Given the description of an element on the screen output the (x, y) to click on. 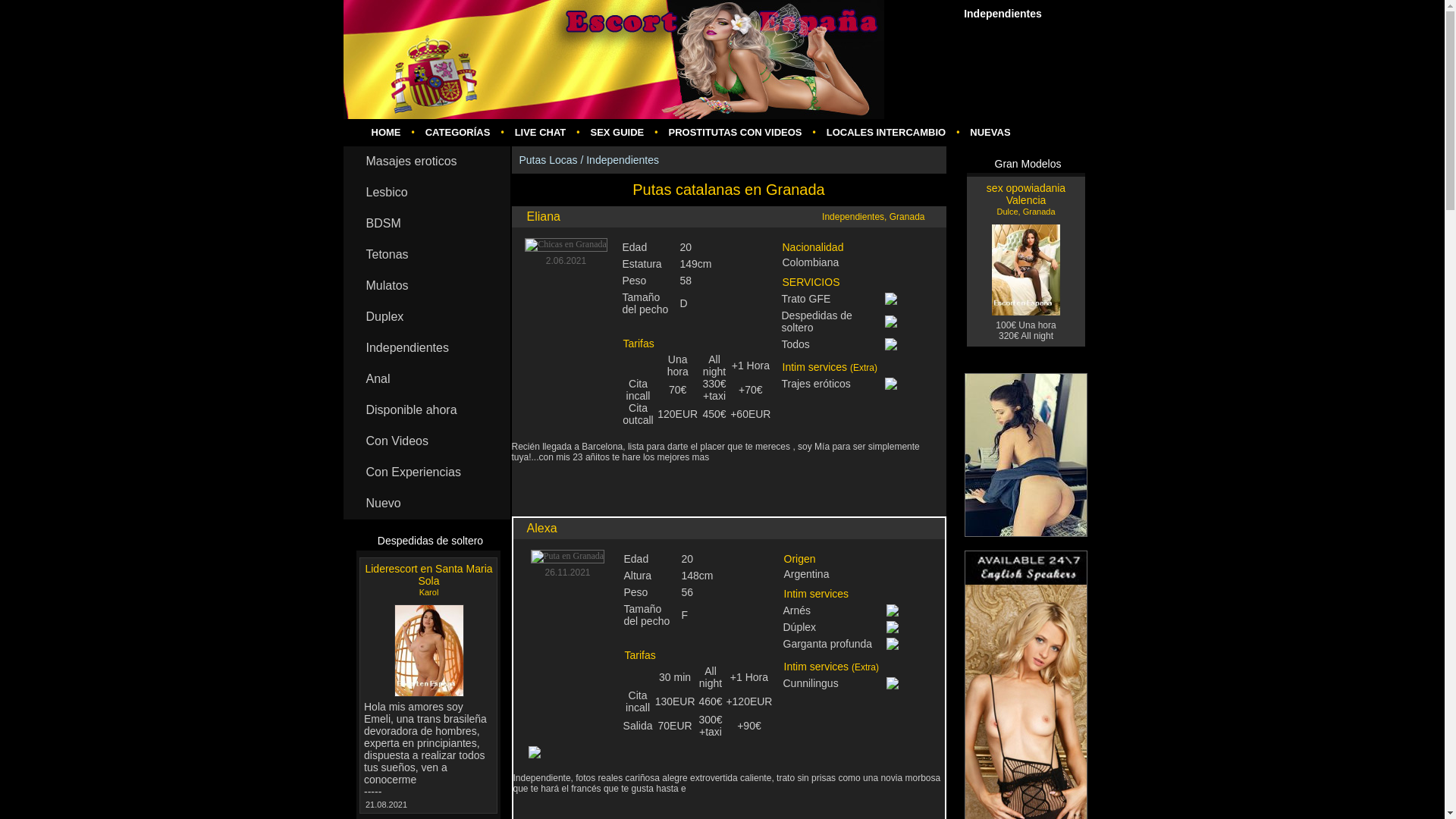
PROSTITUTAS CON VIDEOS (735, 131)
Nuevo (425, 503)
HOME (386, 131)
Tetonas (425, 255)
Anal (425, 378)
Duplex (425, 317)
Mulatos (425, 286)
Independientes (425, 347)
Con Experiencias (425, 472)
Lesbico (425, 192)
SEX GUIDE (616, 131)
BDSM (425, 223)
Disponible ahora (425, 409)
LOCALES INTERCAMBIO (885, 131)
Masajes eroticos (425, 161)
